Given the description of an element on the screen output the (x, y) to click on. 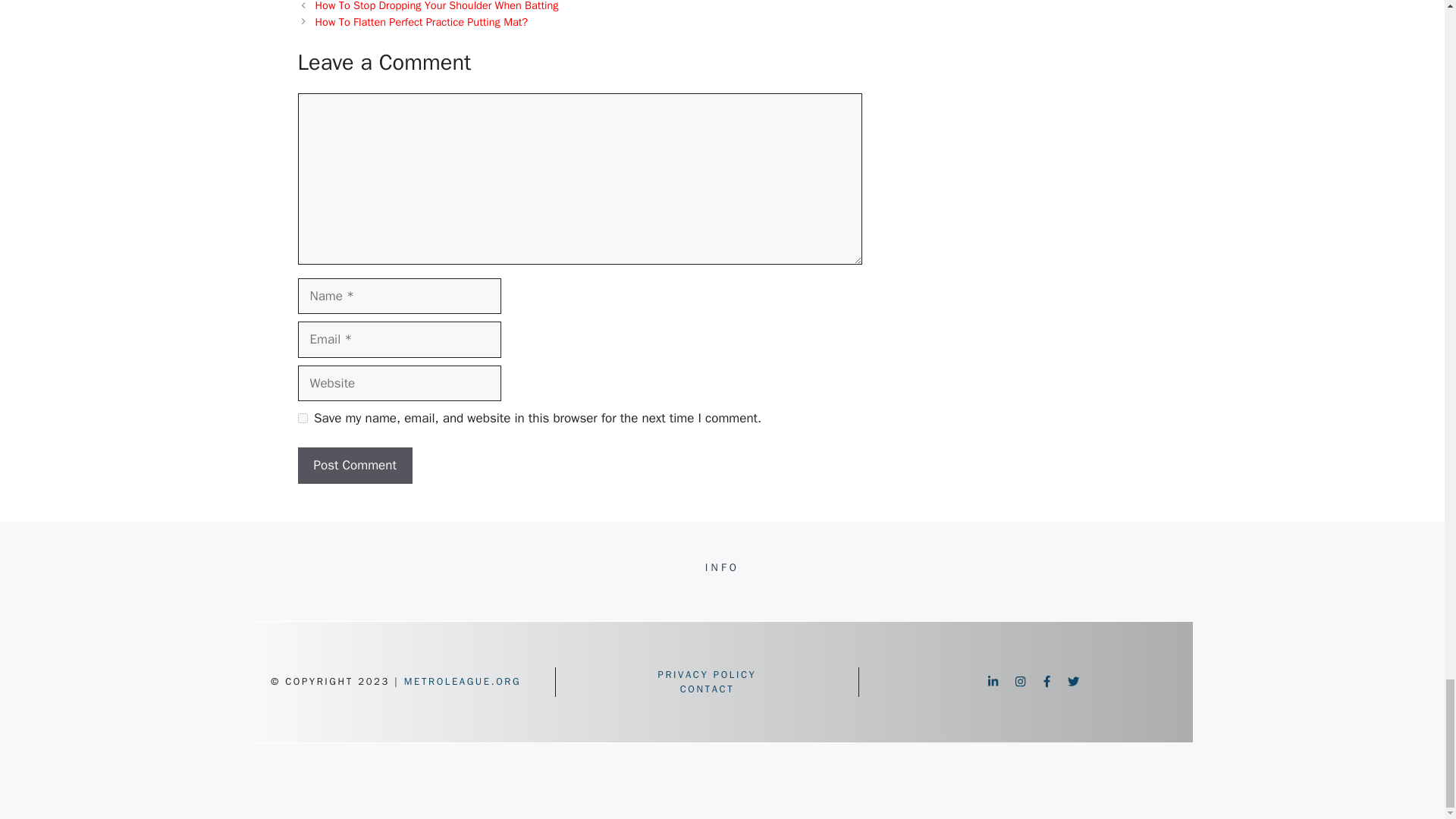
Post Comment (354, 465)
Post Comment (354, 465)
How To Flatten Perfect Practice Putting Mat? (421, 21)
yes (302, 418)
How To Stop Dropping Your Shoulder When Batting (437, 6)
